Given the description of an element on the screen output the (x, y) to click on. 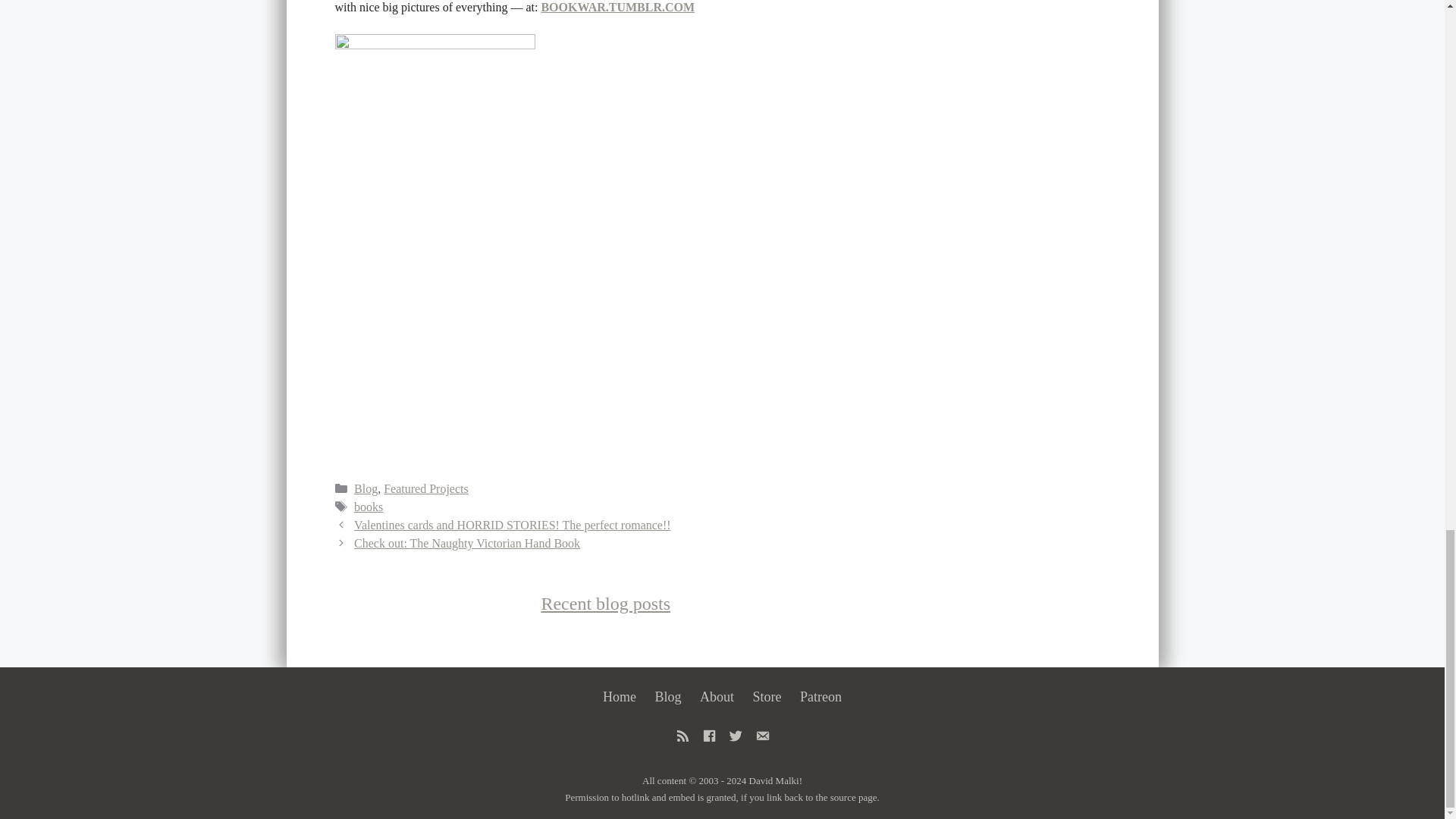
books (367, 506)
Check out: The Naughty Victorian Hand Book (466, 543)
Featured Projects (426, 488)
Valentines cards and HORRID STORIES! The perfect romance!! (512, 524)
Scroll back to top (1394, 11)
Recent blog posts (604, 603)
Blog (365, 488)
BOOKWAR.TUMBLR.COM (617, 6)
